Given the description of an element on the screen output the (x, y) to click on. 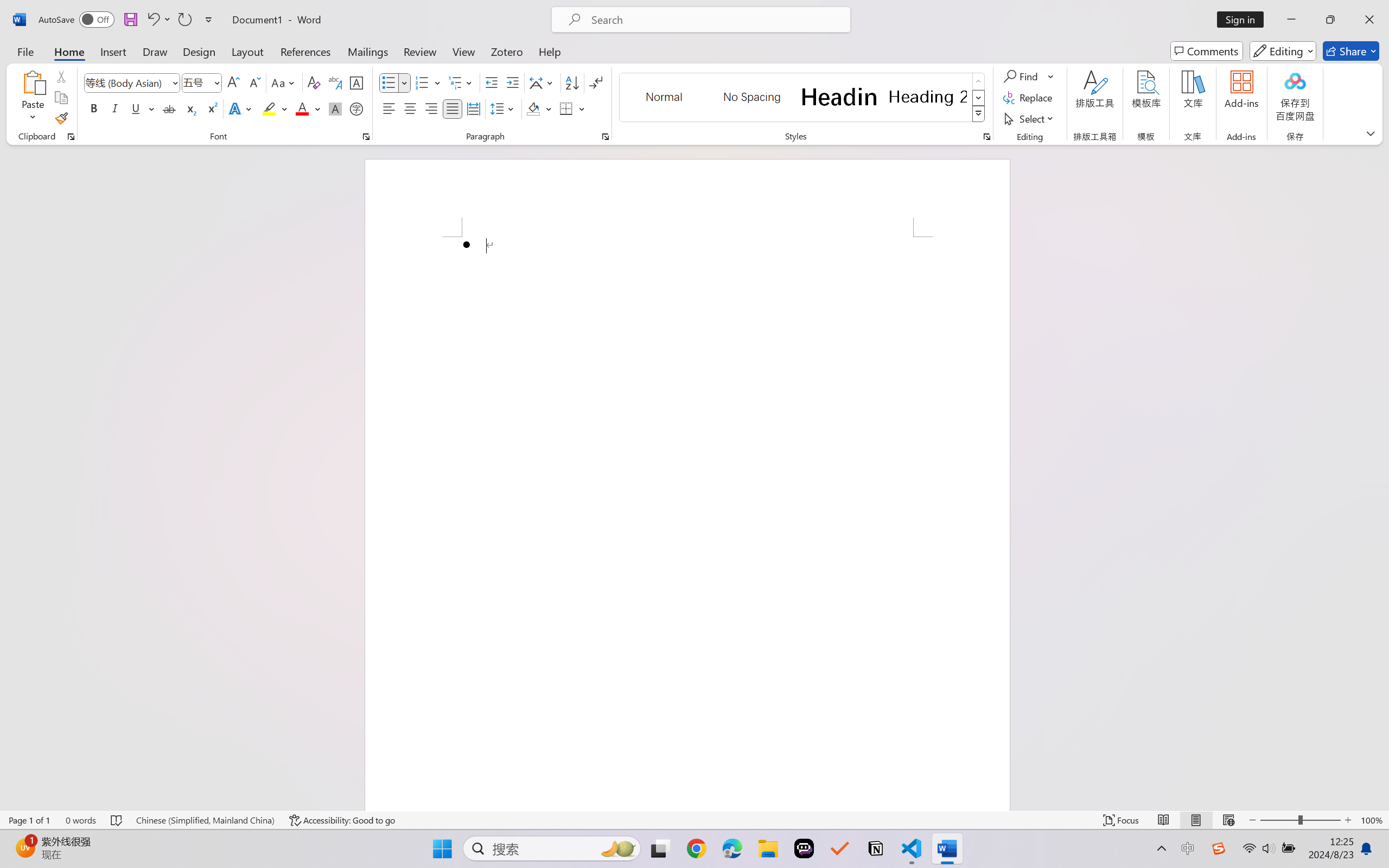
AutomationID: QuickStylesGallery (802, 97)
